Given the description of an element on the screen output the (x, y) to click on. 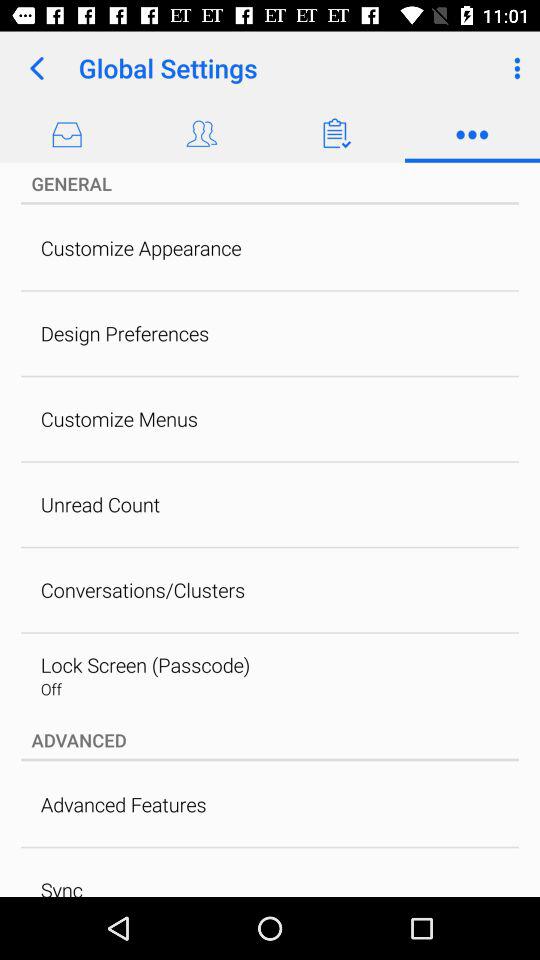
turn on item below design preferences item (119, 418)
